Given the description of an element on the screen output the (x, y) to click on. 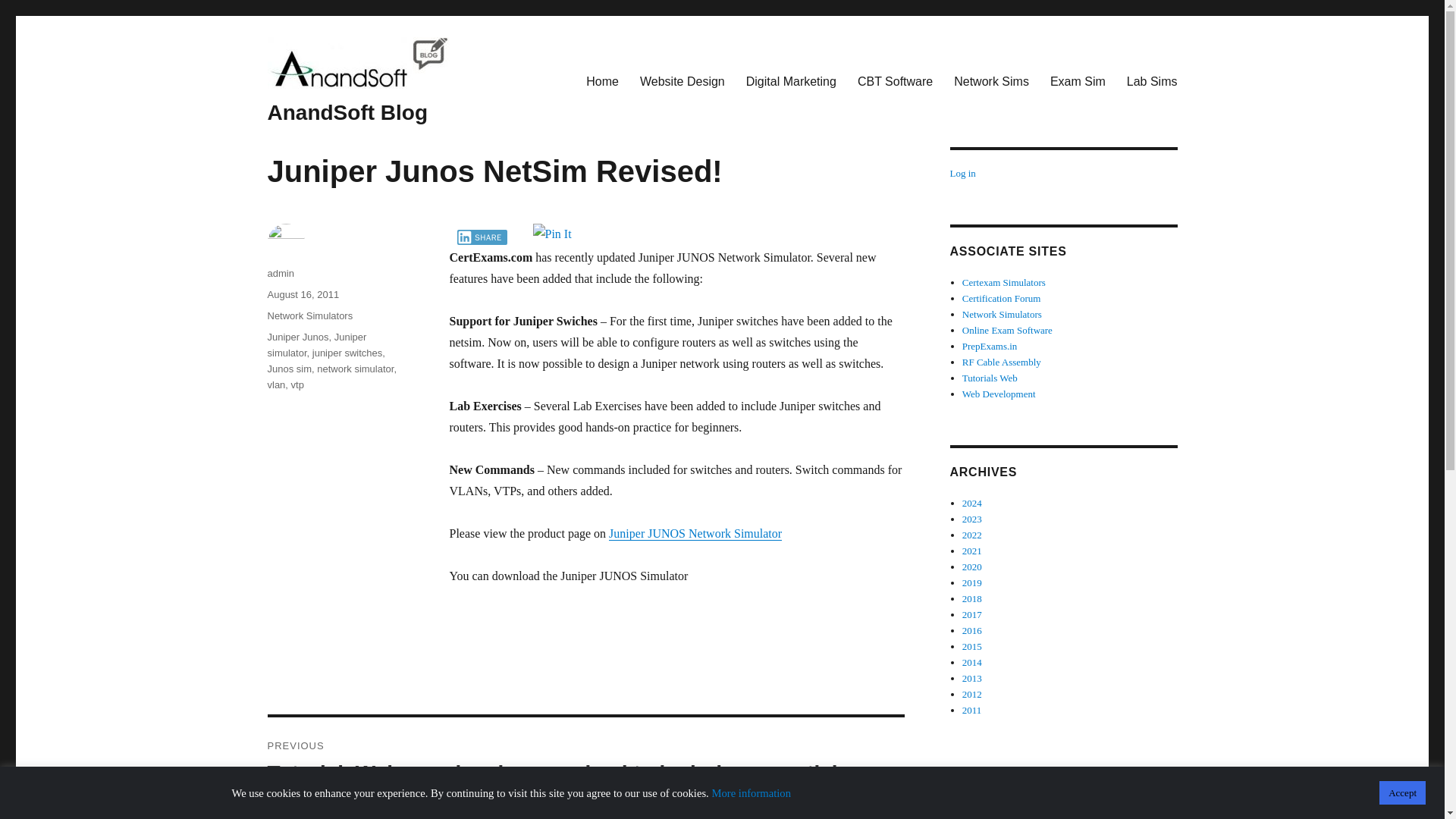
admin (280, 273)
Junos sim (288, 368)
juniper switches (347, 352)
Network Simulator (991, 81)
Online Exam Software (1007, 329)
Log in (585, 815)
Juniper simulator (962, 173)
AnandSoft Blog (316, 344)
Network Simulators (347, 112)
